Given the description of an element on the screen output the (x, y) to click on. 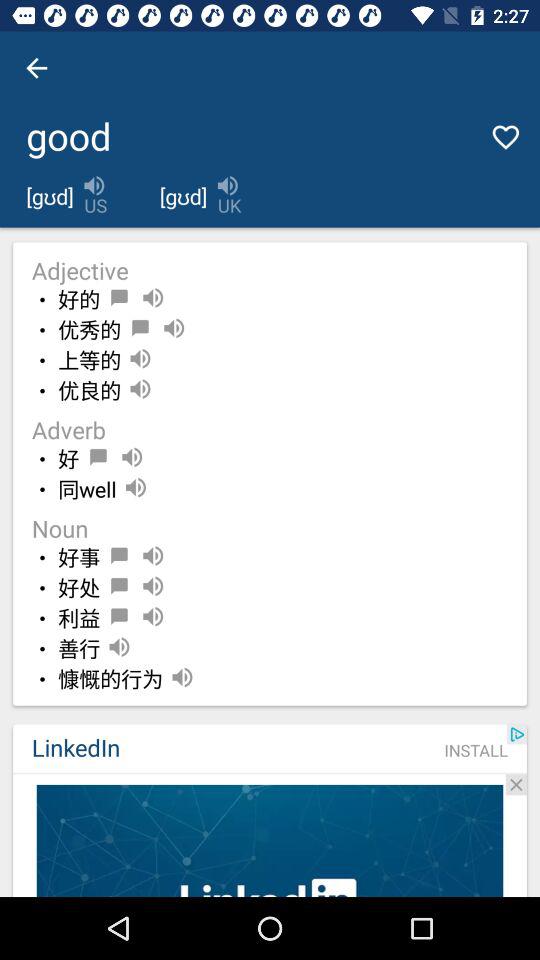
choose item below noun icon (79, 558)
